Given the description of an element on the screen output the (x, y) to click on. 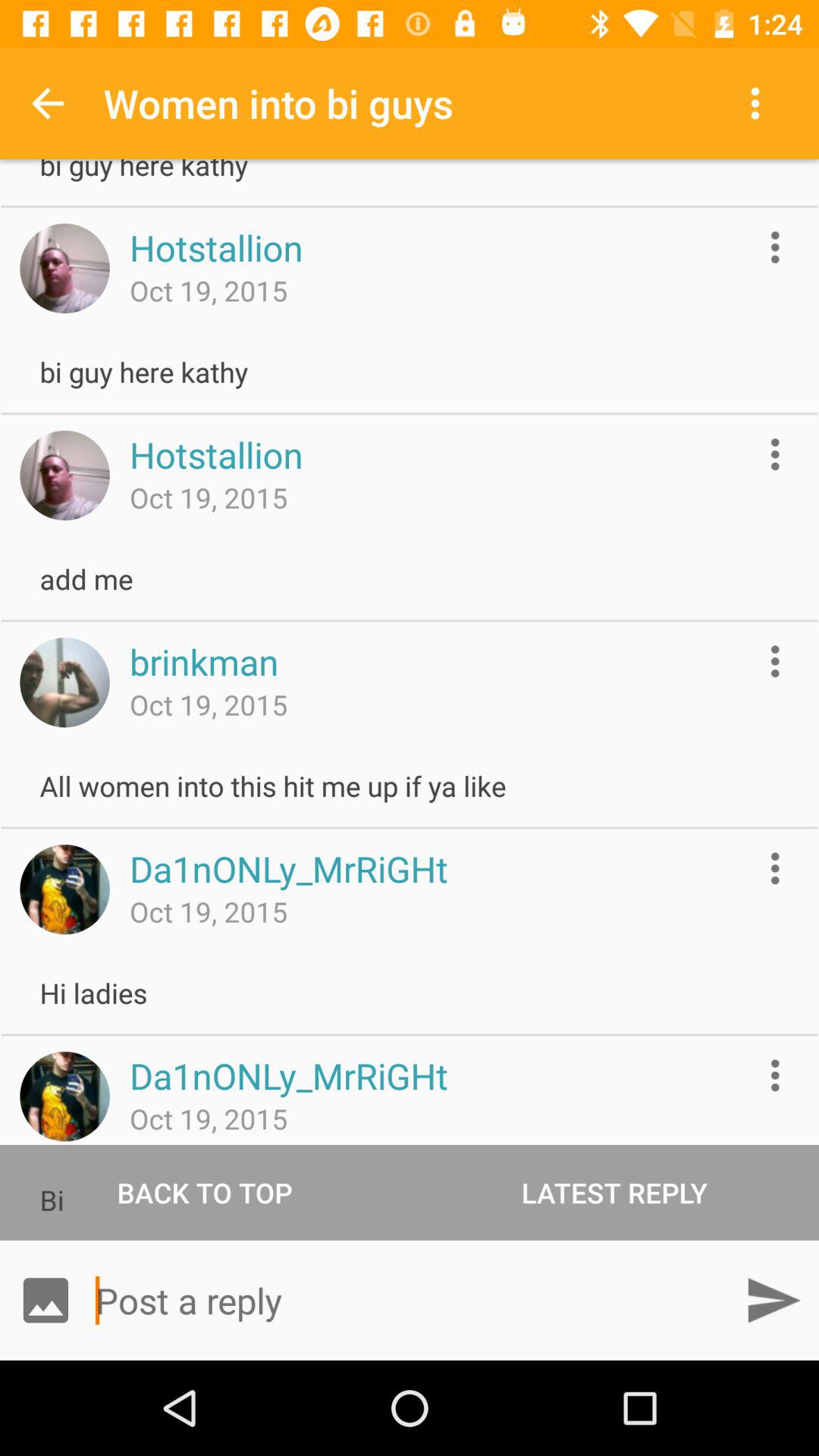
to find out more information (775, 1075)
